Given the description of an element on the screen output the (x, y) to click on. 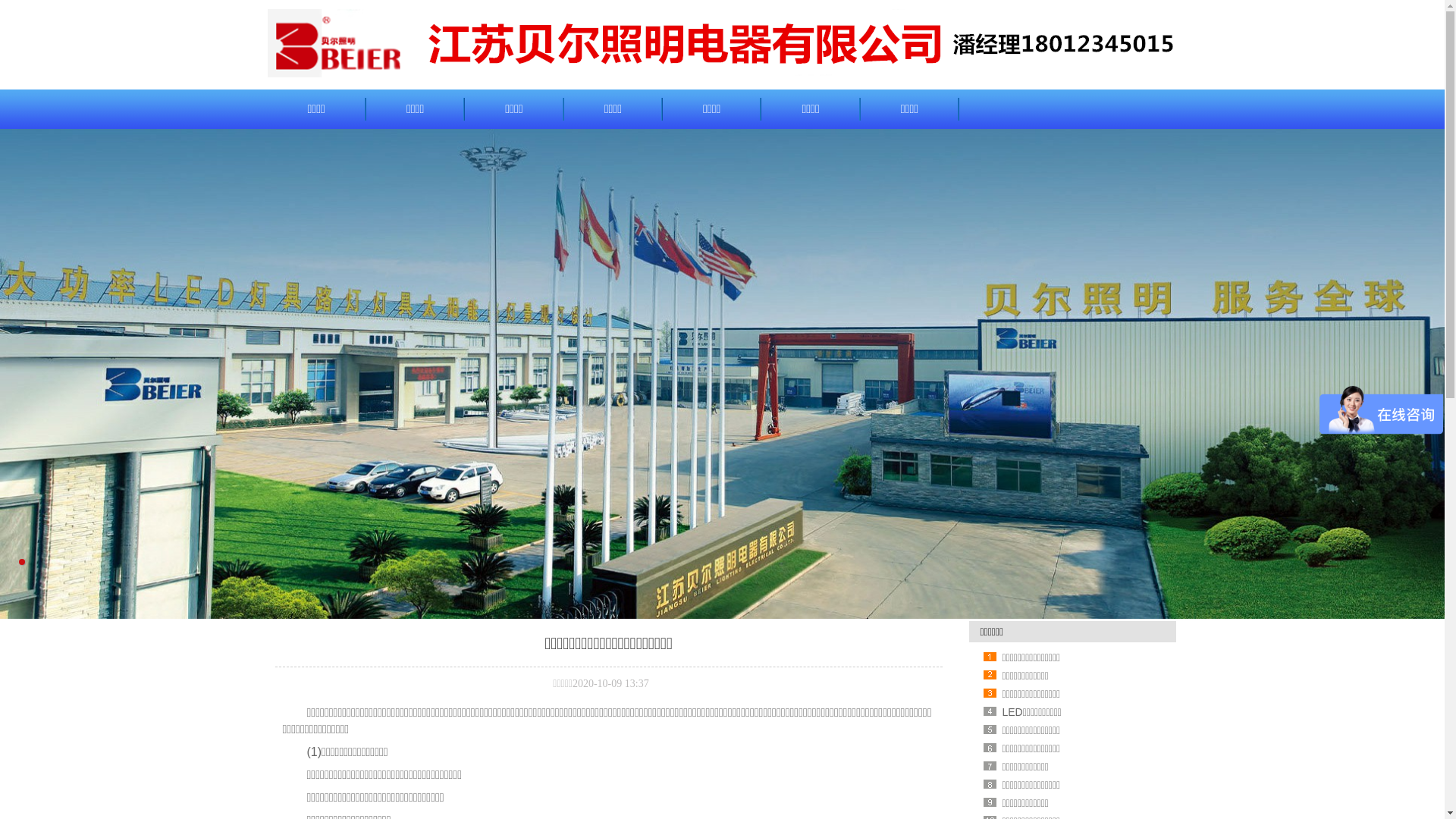
banner Element type: hover (722, 373)
